Given the description of an element on the screen output the (x, y) to click on. 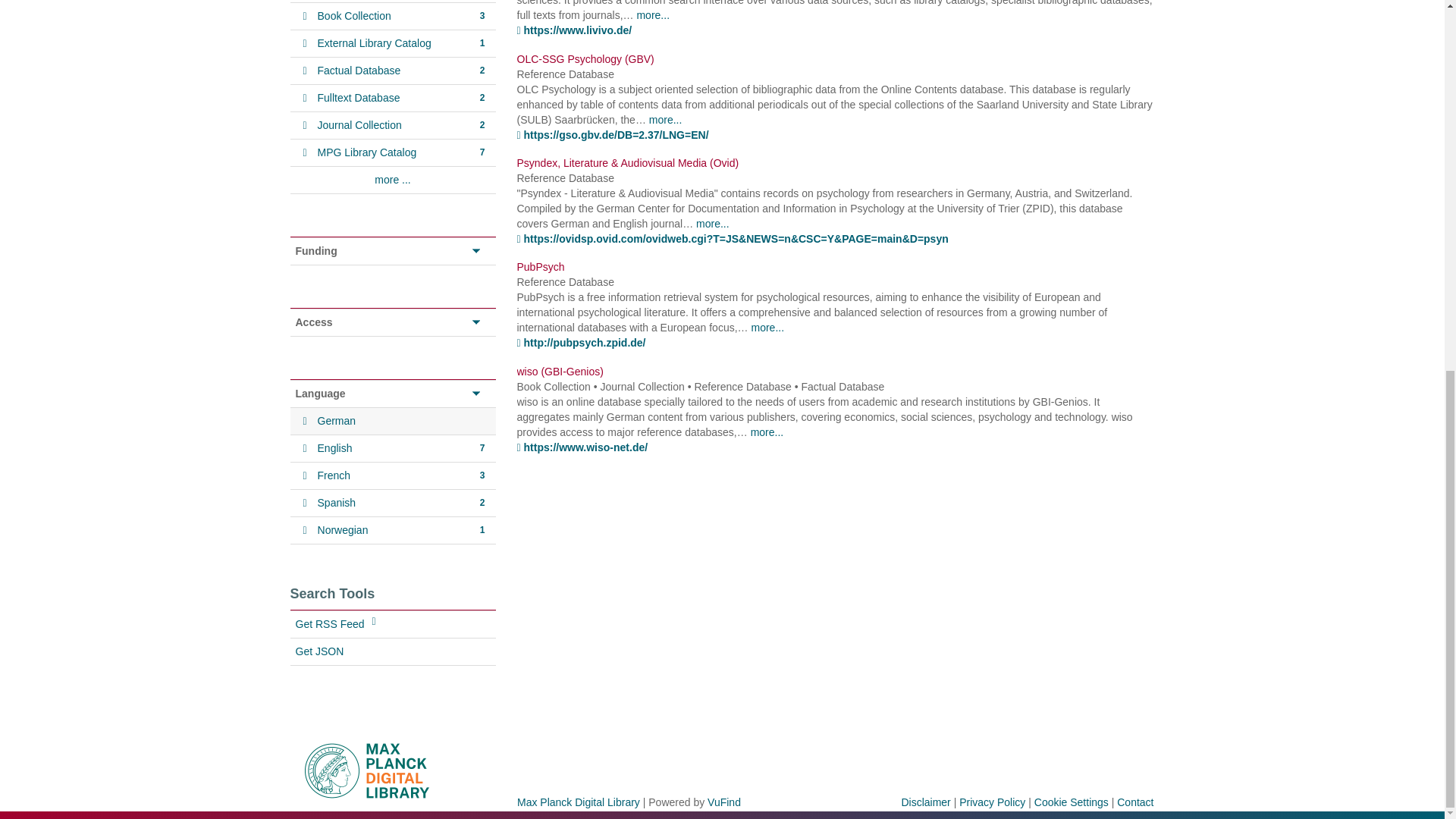
PubPsych (540, 266)
more... (767, 327)
more... (712, 223)
more... (652, 15)
more... (767, 431)
more... (665, 119)
